Given the description of an element on the screen output the (x, y) to click on. 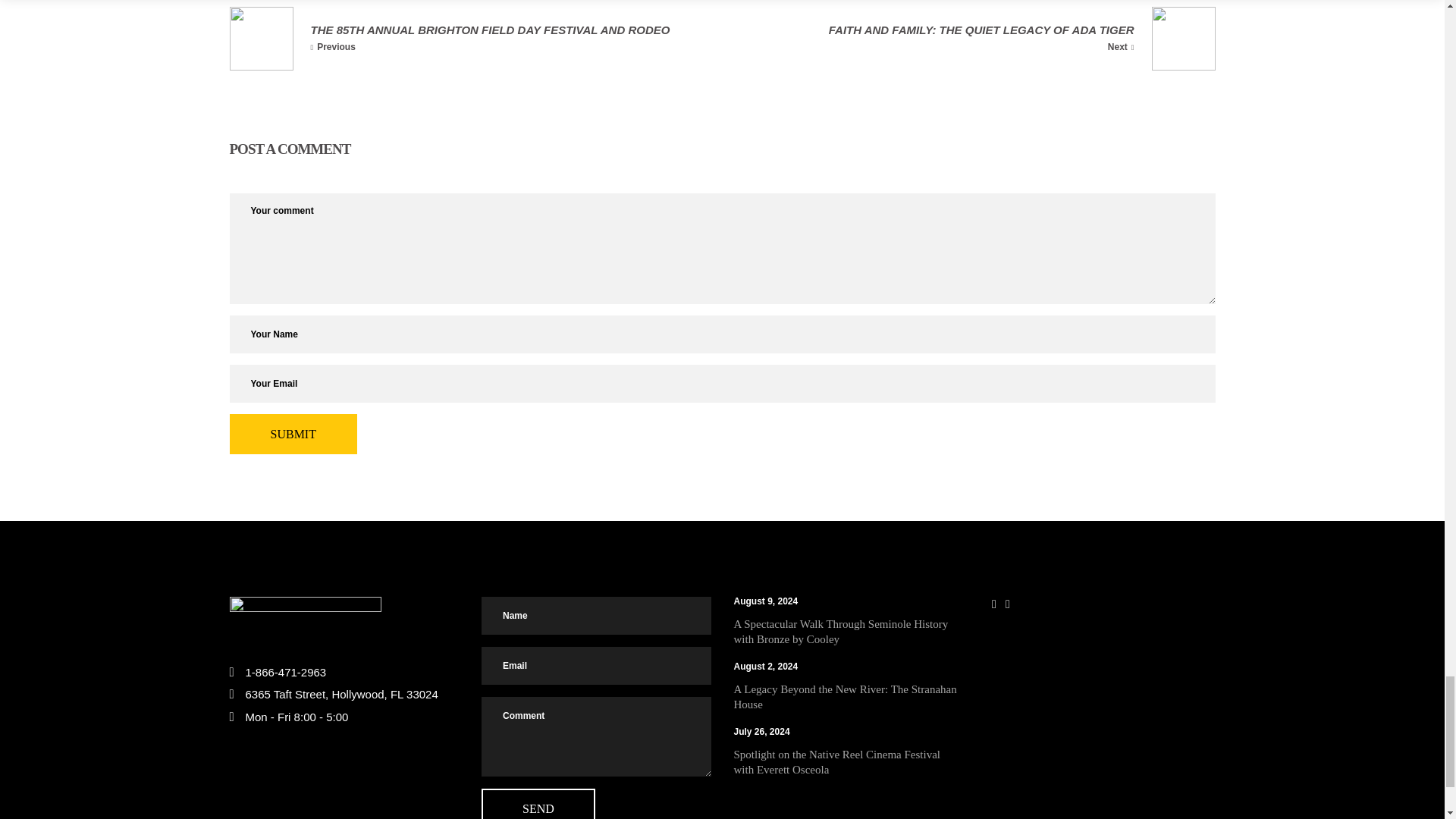
Submit (292, 434)
Send (538, 803)
A Legacy Beyond the New River: The Stranahan House (844, 696)
